Given the description of an element on the screen output the (x, y) to click on. 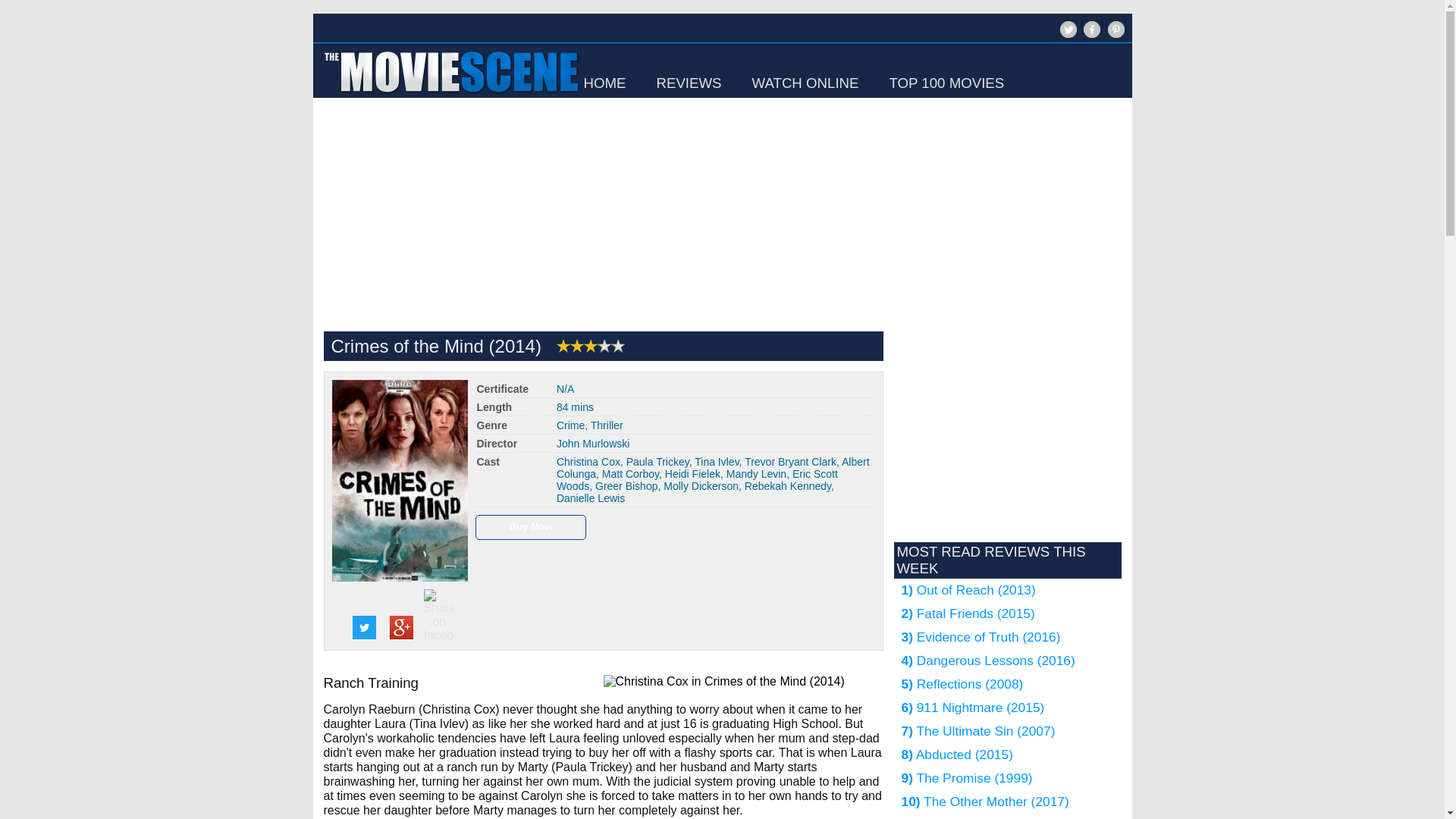
Follow The Movie Scene on Pinterest (1113, 37)
Like The Movie Scene on facebook (1091, 29)
Follow The Movie Scene on Twitter (1067, 37)
Follow The Movie Scene on Pinterest (1115, 29)
Danielle Lewis (590, 498)
Christina Cox (588, 461)
Eric Scott Woods (697, 479)
TOP 100 MOVIES (946, 83)
WATCH ONLINE (805, 83)
